Given the description of an element on the screen output the (x, y) to click on. 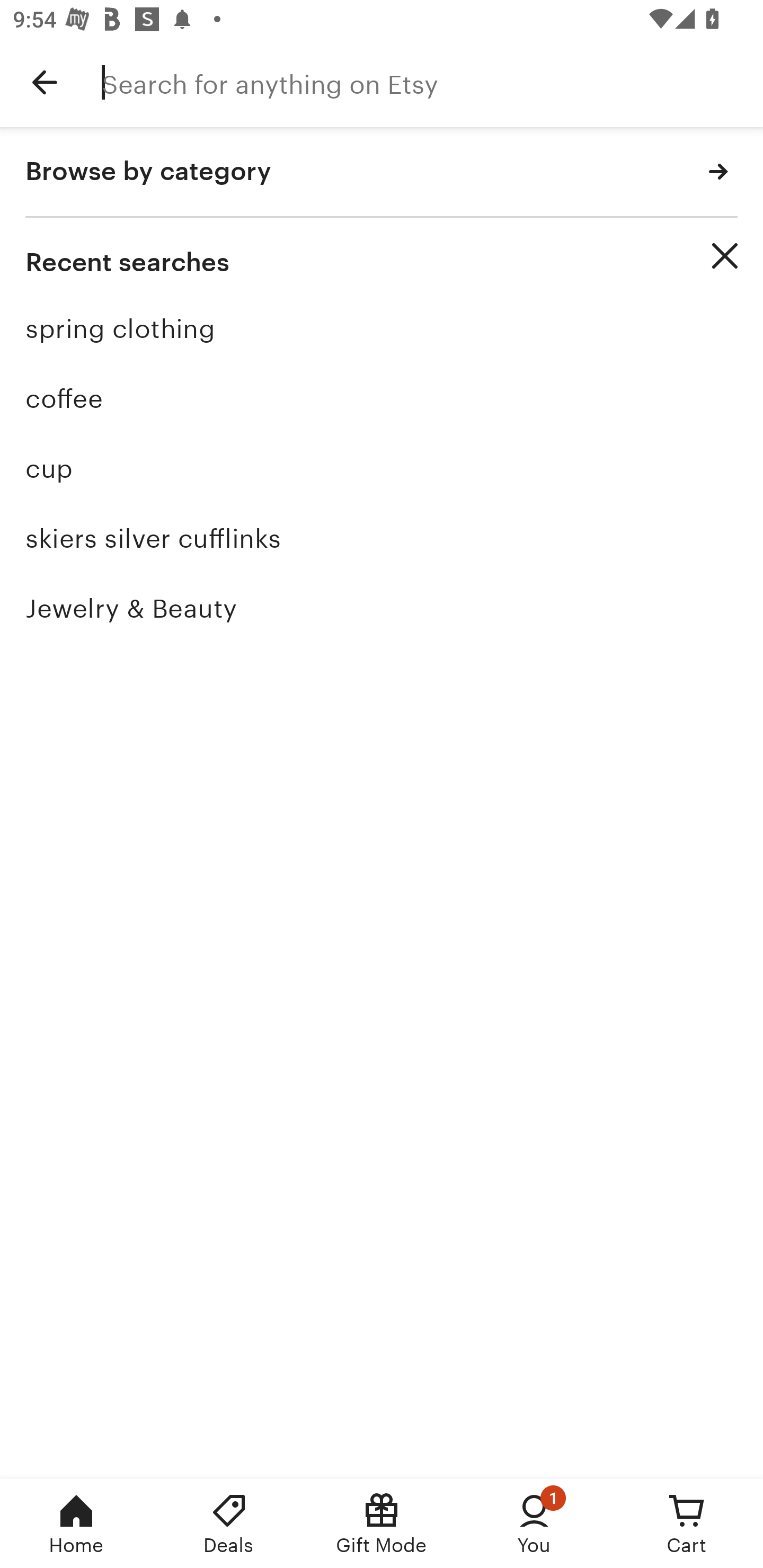
Navigate up (44, 82)
Search for anything on Etsy (432, 82)
Browse by category (381, 172)
Clear (724, 255)
spring clothing (381, 328)
coffee (381, 398)
cup (381, 468)
skiers silver cufflinks (381, 538)
Jewelry & Beauty (381, 607)
Deals (228, 1523)
Gift Mode (381, 1523)
You, 1 new notification You (533, 1523)
Cart (686, 1523)
